Given the description of an element on the screen output the (x, y) to click on. 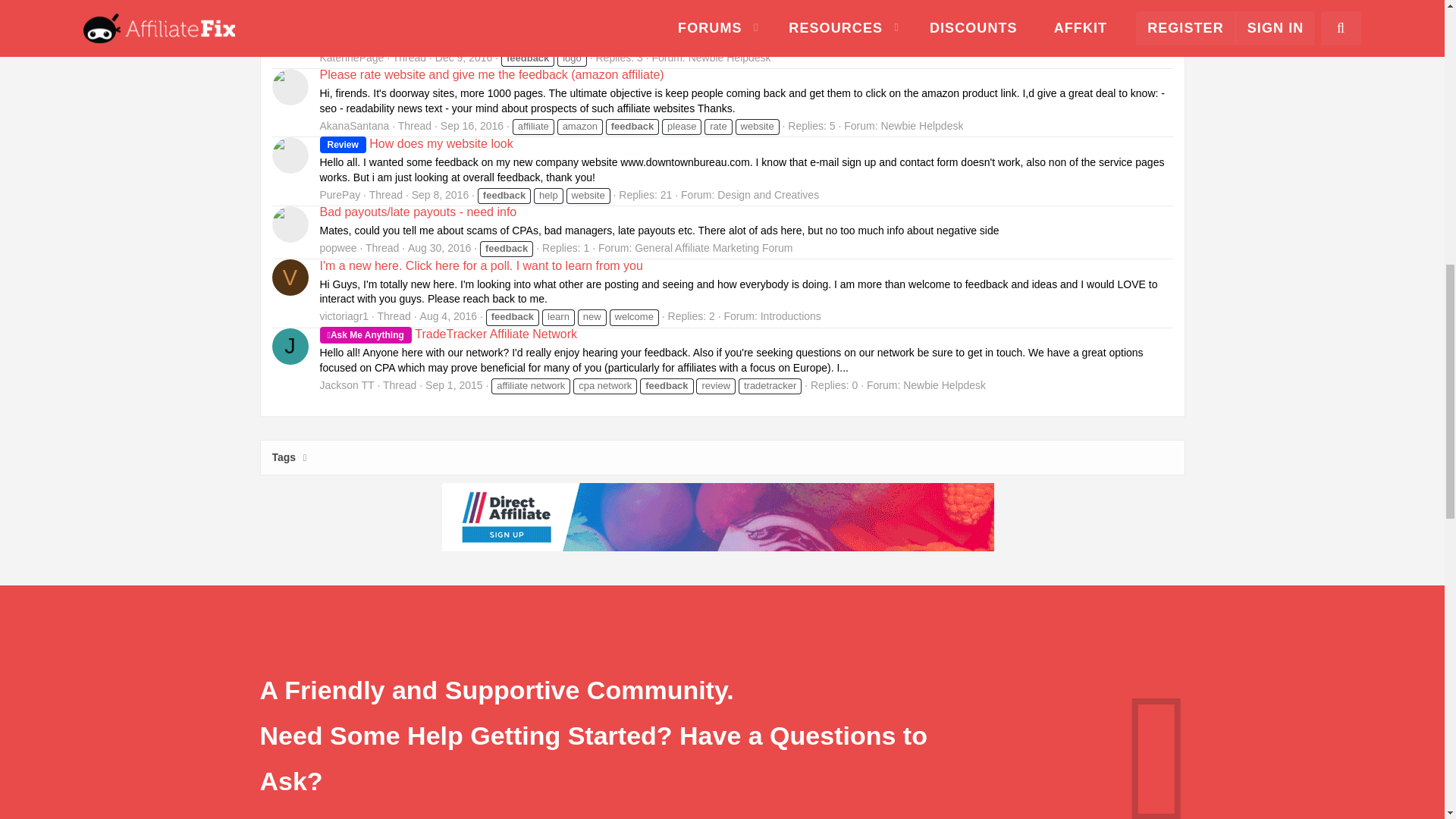
Dec 9, 2016 at 4:53 PM (464, 57)
Jackson TT (288, 345)
Sep 16, 2016 at 6:02 AM (472, 125)
Aug 4, 2016 at 1:29 PM (448, 316)
Aug 30, 2016 at 4:14 AM (438, 247)
Sep 1, 2015 at 3:29 AM (454, 385)
Sep 8, 2016 at 10:44 AM (440, 194)
